Given the description of an element on the screen output the (x, y) to click on. 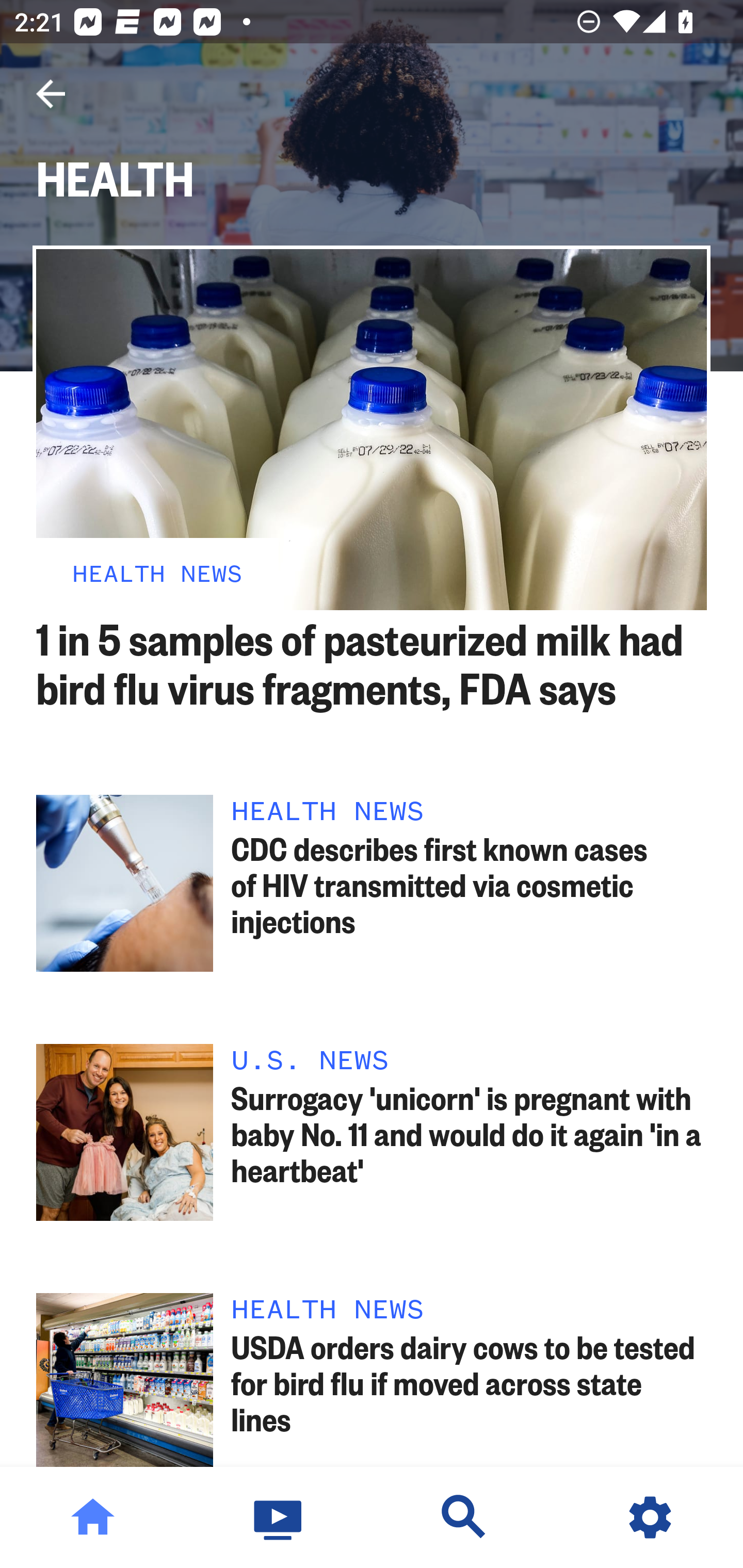
Navigate up (50, 93)
Watch (278, 1517)
Discover (464, 1517)
Settings (650, 1517)
